Given the description of an element on the screen output the (x, y) to click on. 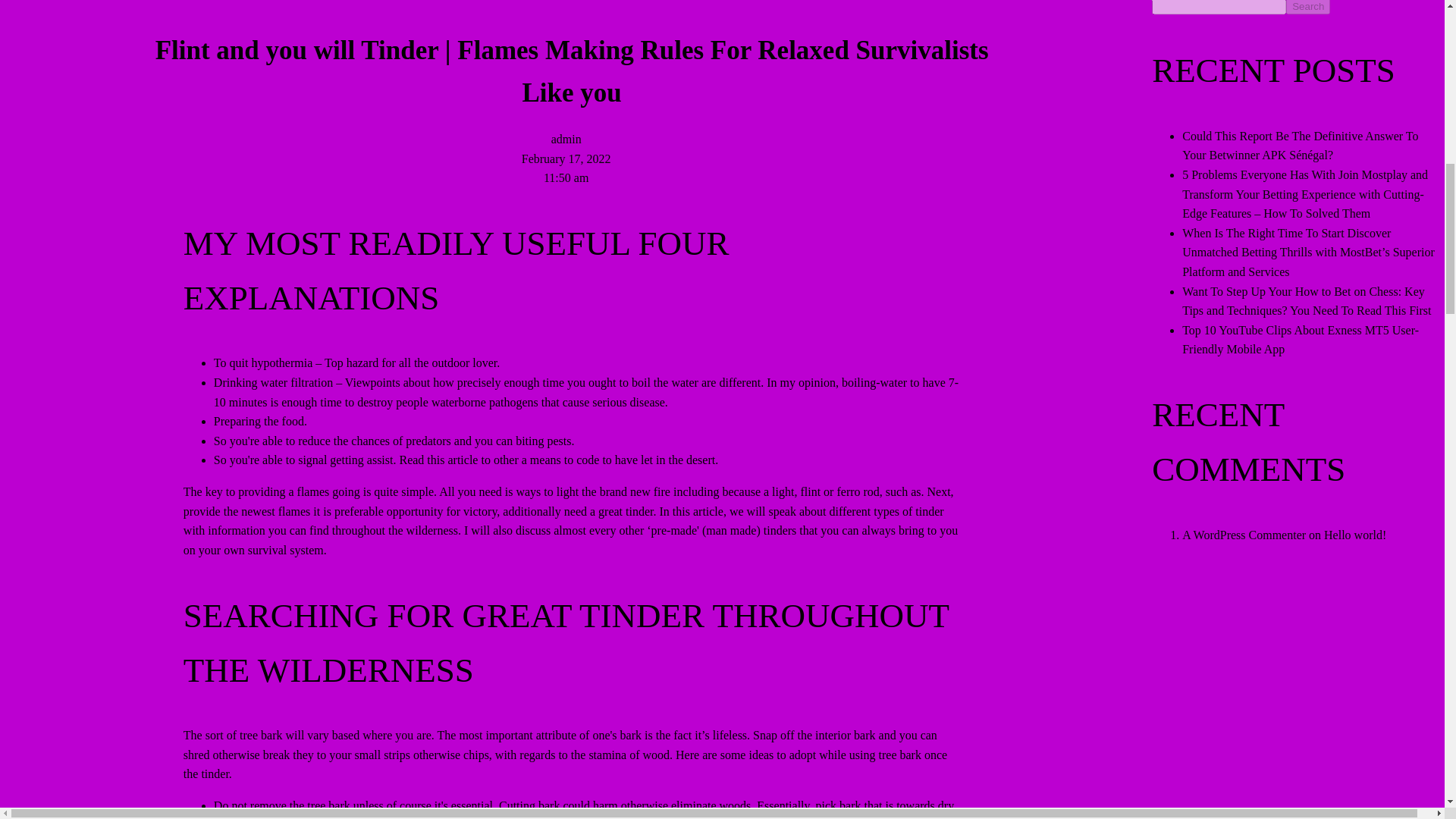
11:50 am (565, 177)
admin (565, 138)
February 17, 2022 (566, 157)
Search (1307, 7)
A WordPress Commenter (1244, 534)
Hello world! (1354, 534)
